Given the description of an element on the screen output the (x, y) to click on. 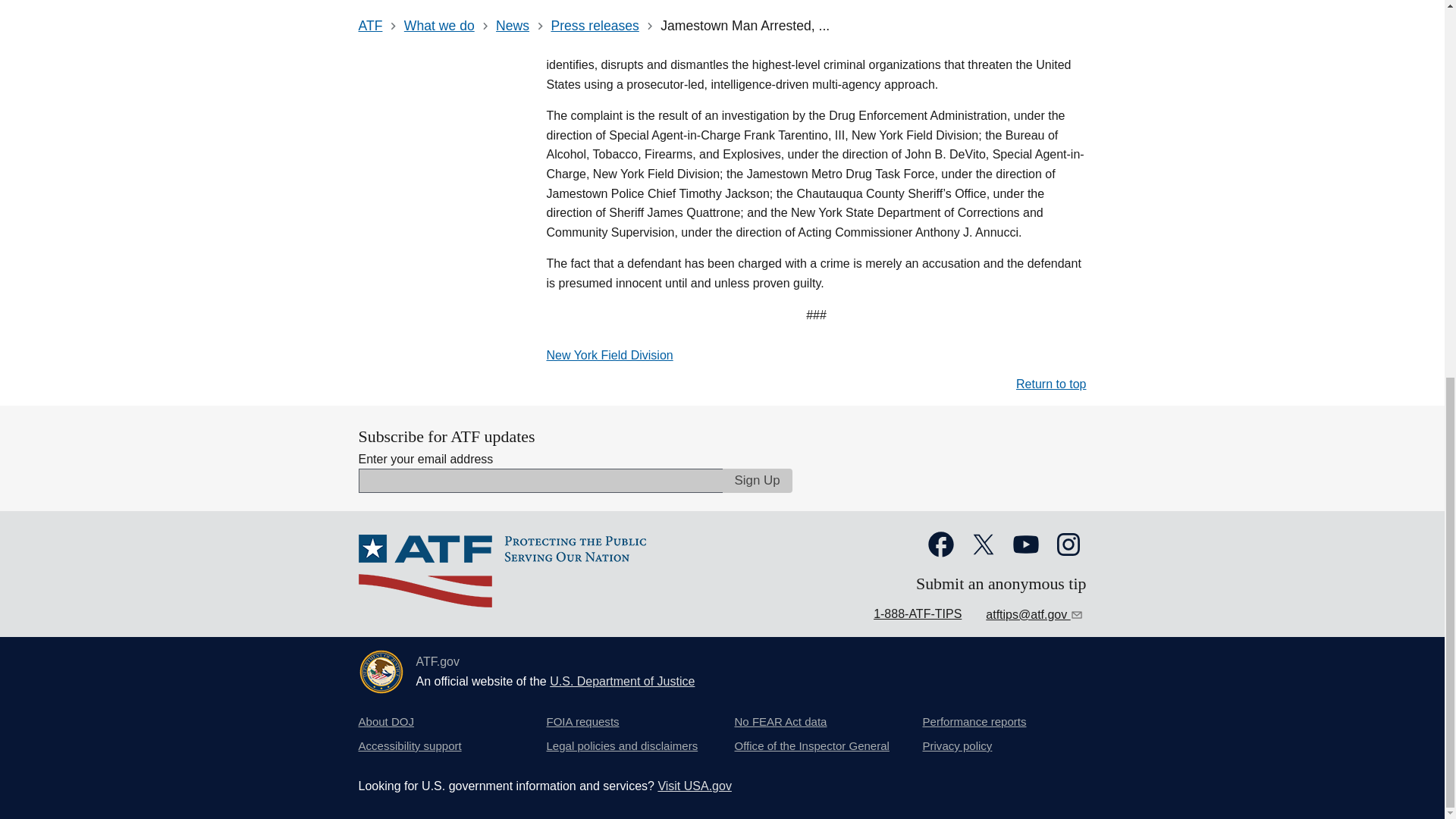
FOIA requests (582, 721)
Performance reports (973, 721)
Office of the Inspector General (810, 746)
About DOJ (385, 721)
No FEAR Act data (780, 721)
U.S. Department of Justice (622, 680)
Visit USA.gov (695, 786)
1-888-ATF-TIPS (916, 613)
Sign Up (757, 480)
Privacy policy (956, 746)
